Given the description of an element on the screen output the (x, y) to click on. 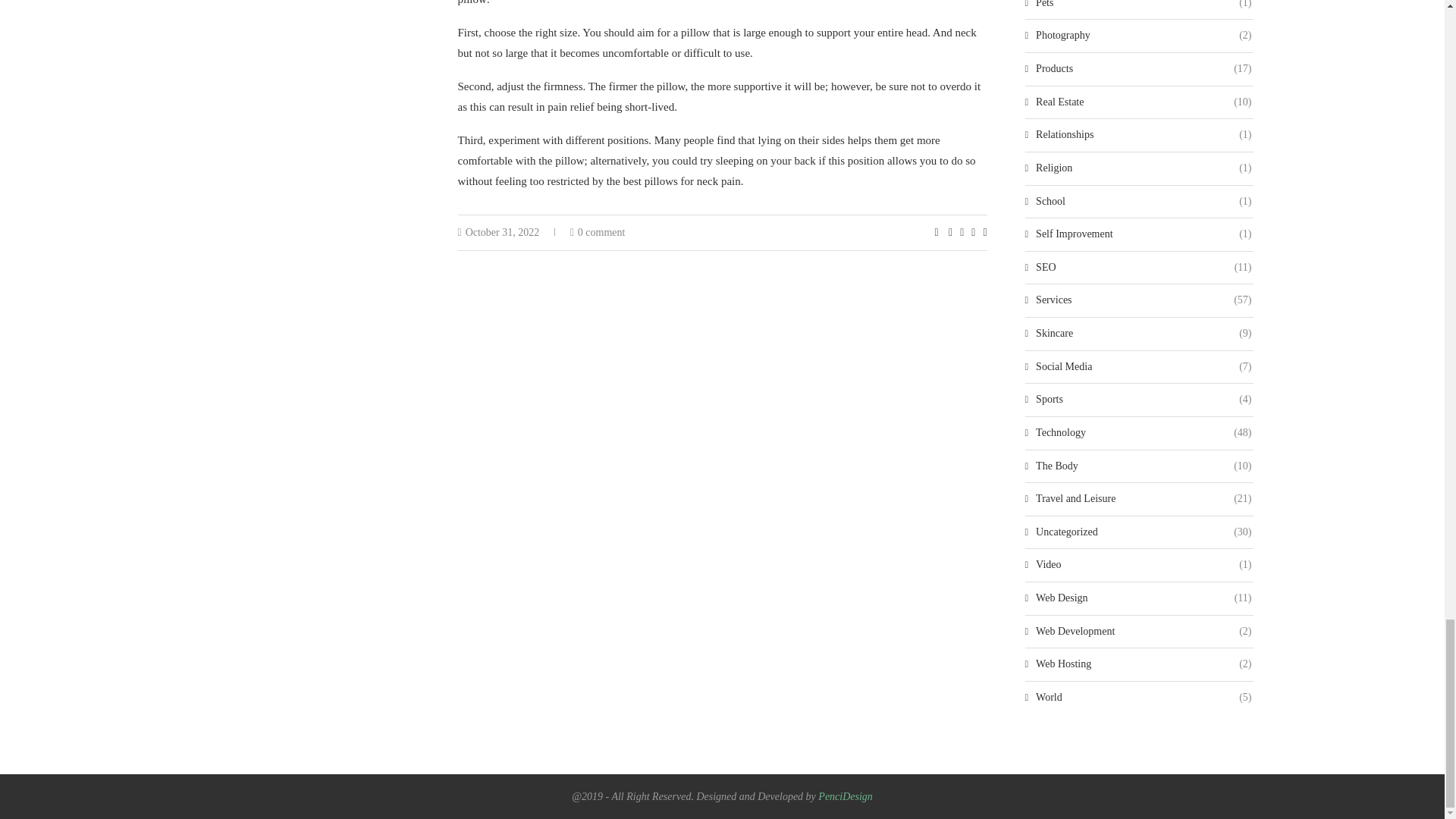
0 comment (598, 232)
